Given the description of an element on the screen output the (x, y) to click on. 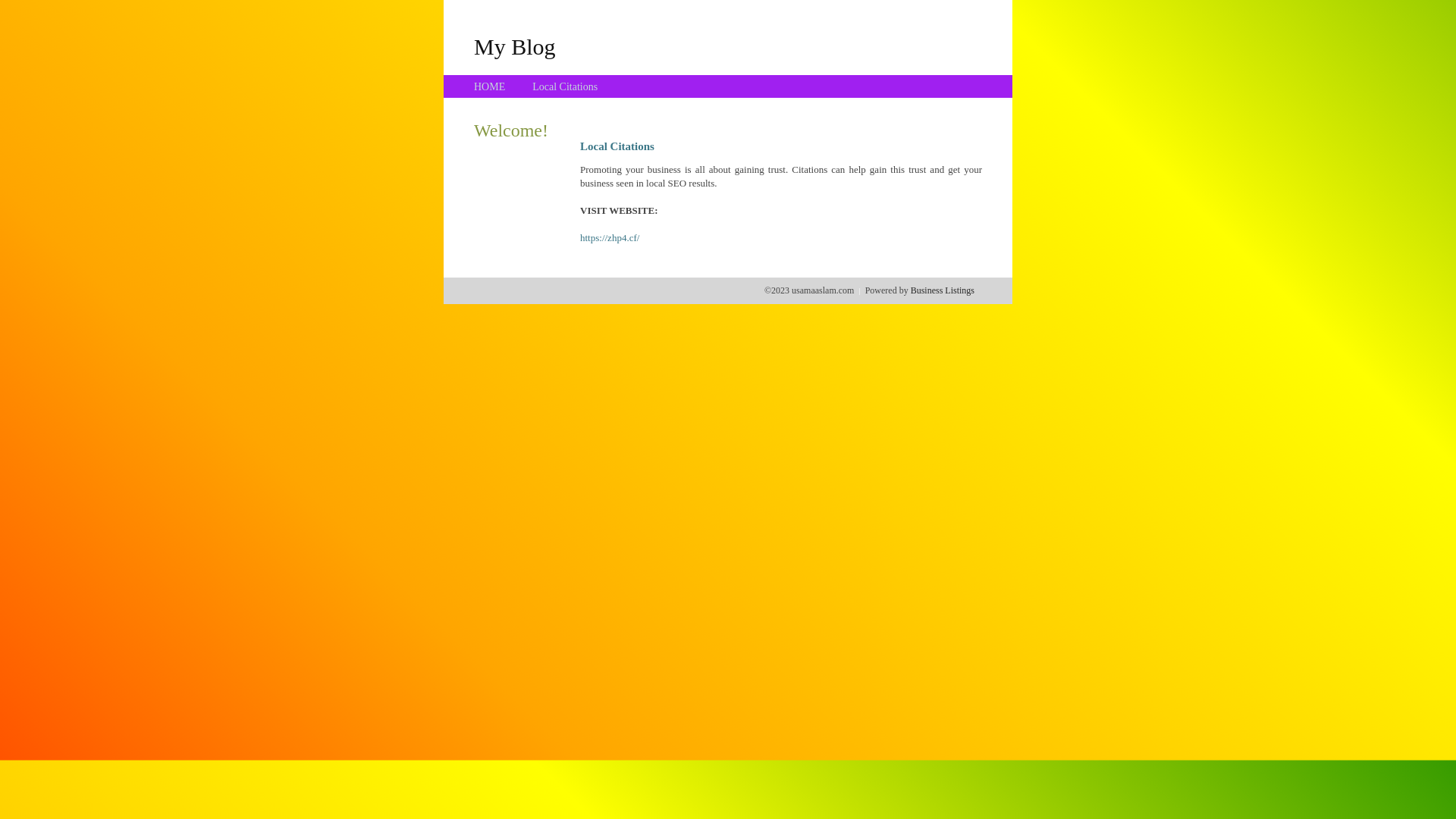
Local Citations Element type: text (564, 86)
https://zhp4.cf/ Element type: text (609, 237)
HOME Element type: text (489, 86)
Business Listings Element type: text (942, 290)
My Blog Element type: text (514, 46)
